Given the description of an element on the screen output the (x, y) to click on. 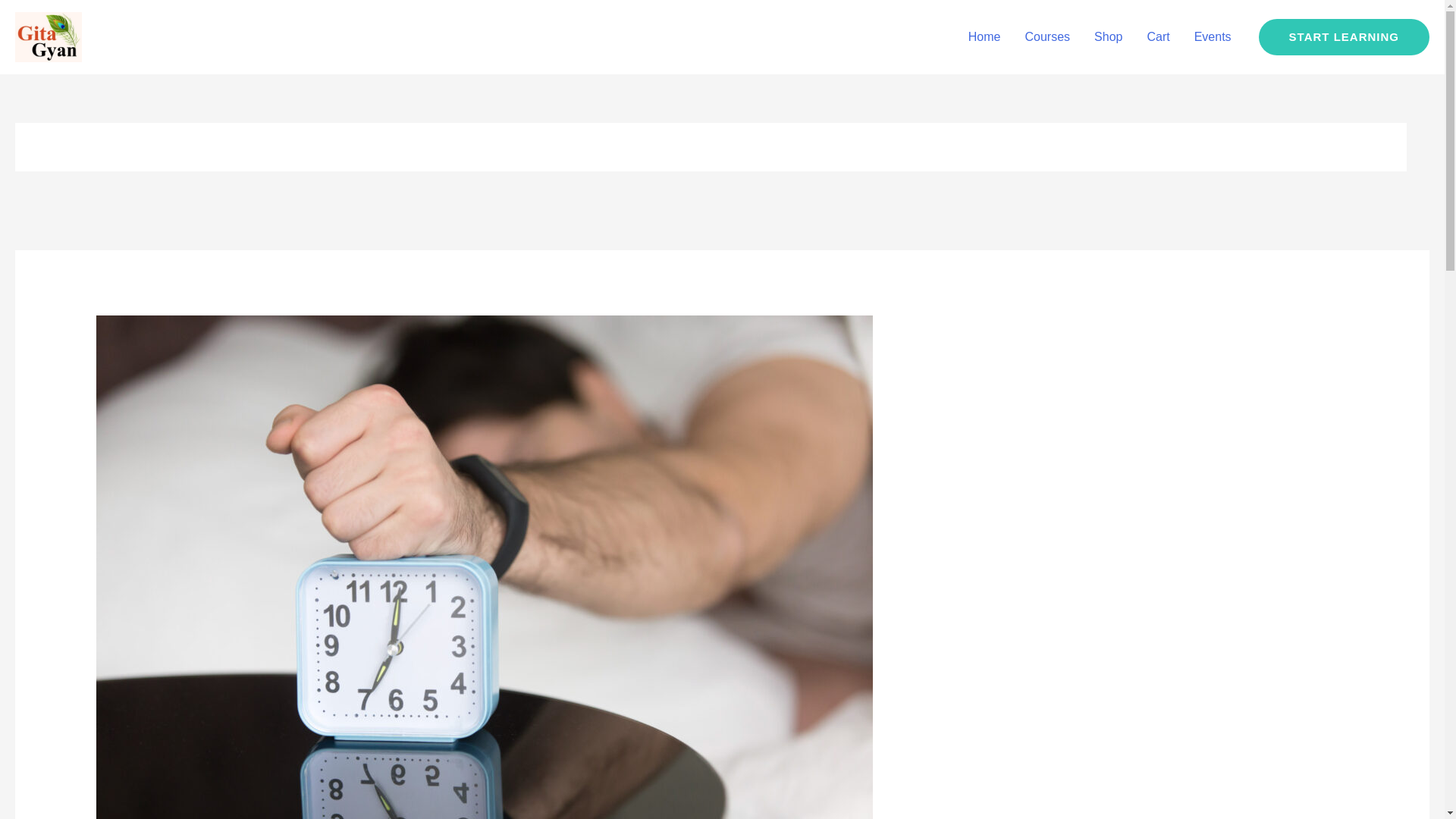
Home (984, 36)
Events (1212, 36)
START LEARNING (1344, 36)
Courses (1048, 36)
Shop (1107, 36)
